Given the description of an element on the screen output the (x, y) to click on. 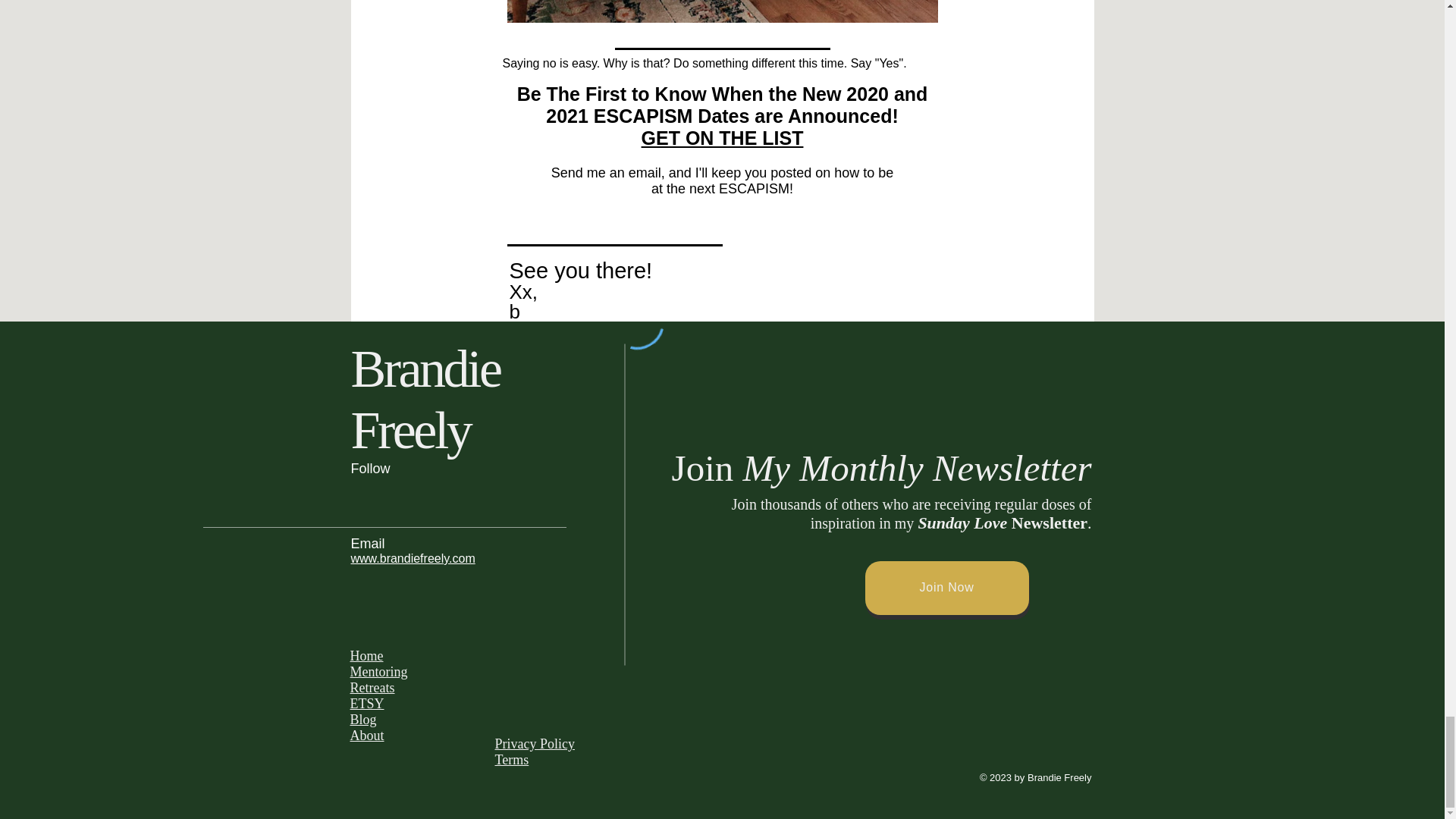
www.brandiefreely.com (412, 558)
About (367, 735)
Retreats (372, 687)
Privacy Policy (535, 743)
Terms (511, 759)
Join Now (945, 588)
Brandie Freely (424, 409)
ETSY (367, 703)
Home (367, 655)
GET ON THE LIST (722, 137)
Mentoring (378, 671)
Blog (363, 719)
